Given the description of an element on the screen output the (x, y) to click on. 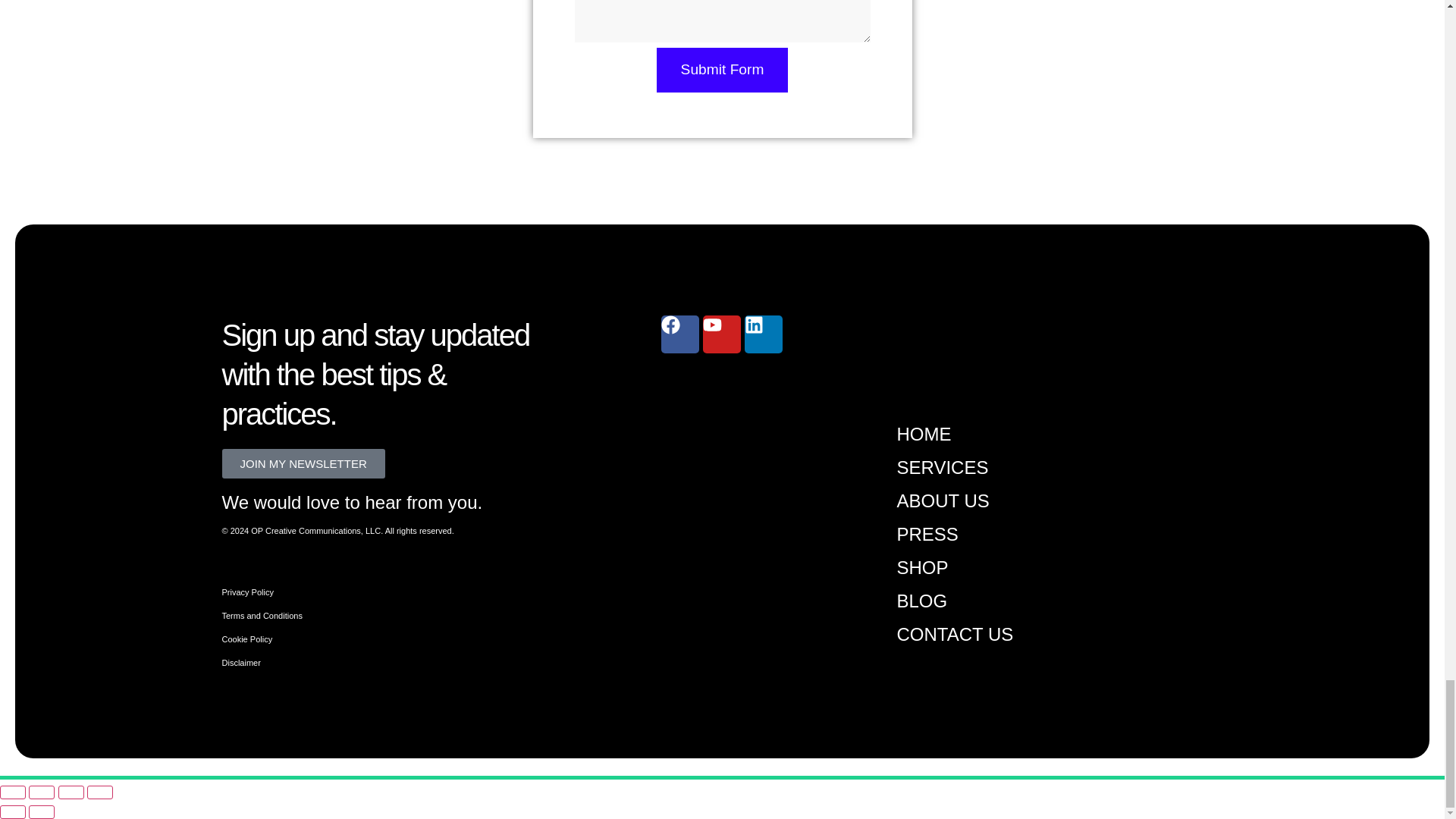
Privacy Policy (247, 592)
SHOP (921, 567)
PRESS (927, 534)
ABOUT US (942, 500)
Terms and Conditions (261, 614)
Submit Form (722, 69)
Cookie Policy (246, 638)
JOIN MY NEWSLETTER (302, 463)
CONTACT US (954, 634)
HOME (923, 434)
Disclaimer (240, 662)
BLOG (921, 600)
SERVICES (942, 467)
